Given the description of an element on the screen output the (x, y) to click on. 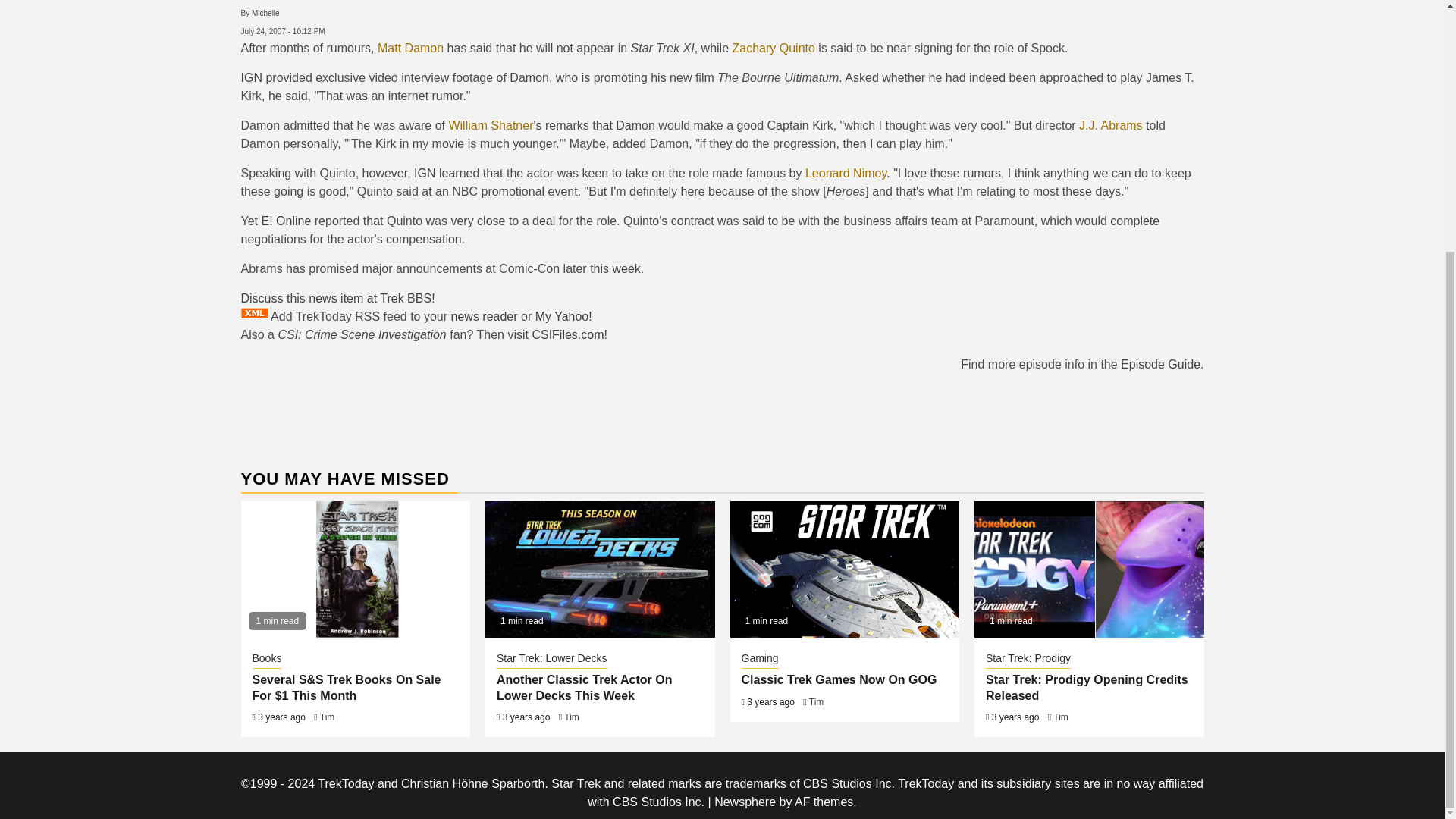
news reader (484, 316)
Episode Guide (1160, 364)
IGN (251, 77)
CSIFiles.com (567, 334)
Michelle (265, 13)
Discuss this news item at Trek BBS! (338, 297)
My Yahoo! (563, 316)
CSI: Crime Scene Investigation (361, 334)
Books (266, 659)
Tim (327, 716)
E! Online (285, 220)
IGN (424, 173)
